Given the description of an element on the screen output the (x, y) to click on. 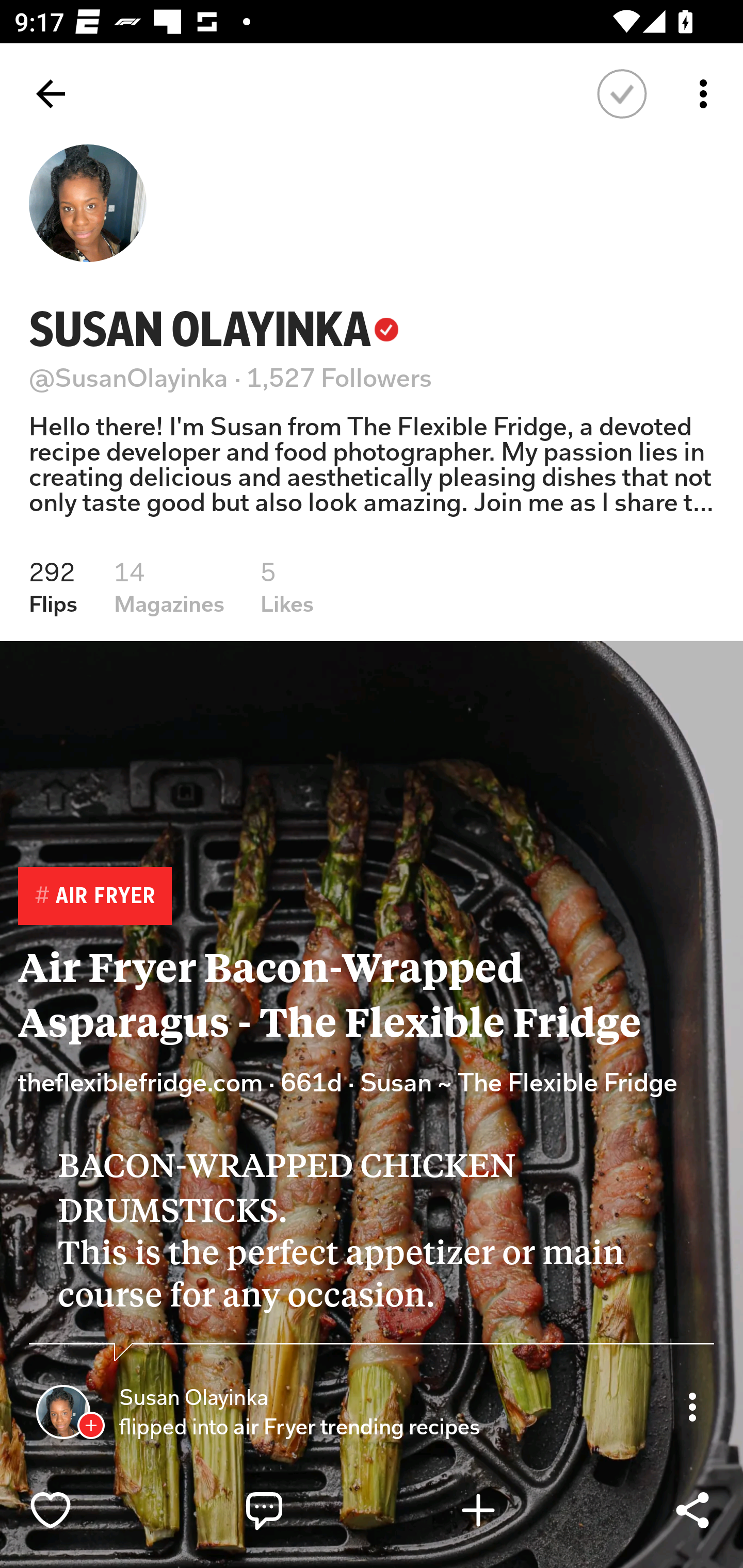
Back (50, 93)
More options (706, 93)
Following (622, 93)
SUSAN OLAYINKA (213, 328)
@SusanOlayinka (128, 377)
1,527 Followers (339, 377)
292 Flips (53, 587)
14 Magazines (168, 587)
5 Likes (287, 587)
# AIR FRYER (94, 896)
More (692, 1406)
Susan Olayinka (193, 1397)
flipped into air Fryer trending recipes  (301, 1426)
Like (93, 1509)
Write a comment… (307, 1509)
Flip into Magazine (521, 1509)
Share (692, 1509)
